Given the description of an element on the screen output the (x, y) to click on. 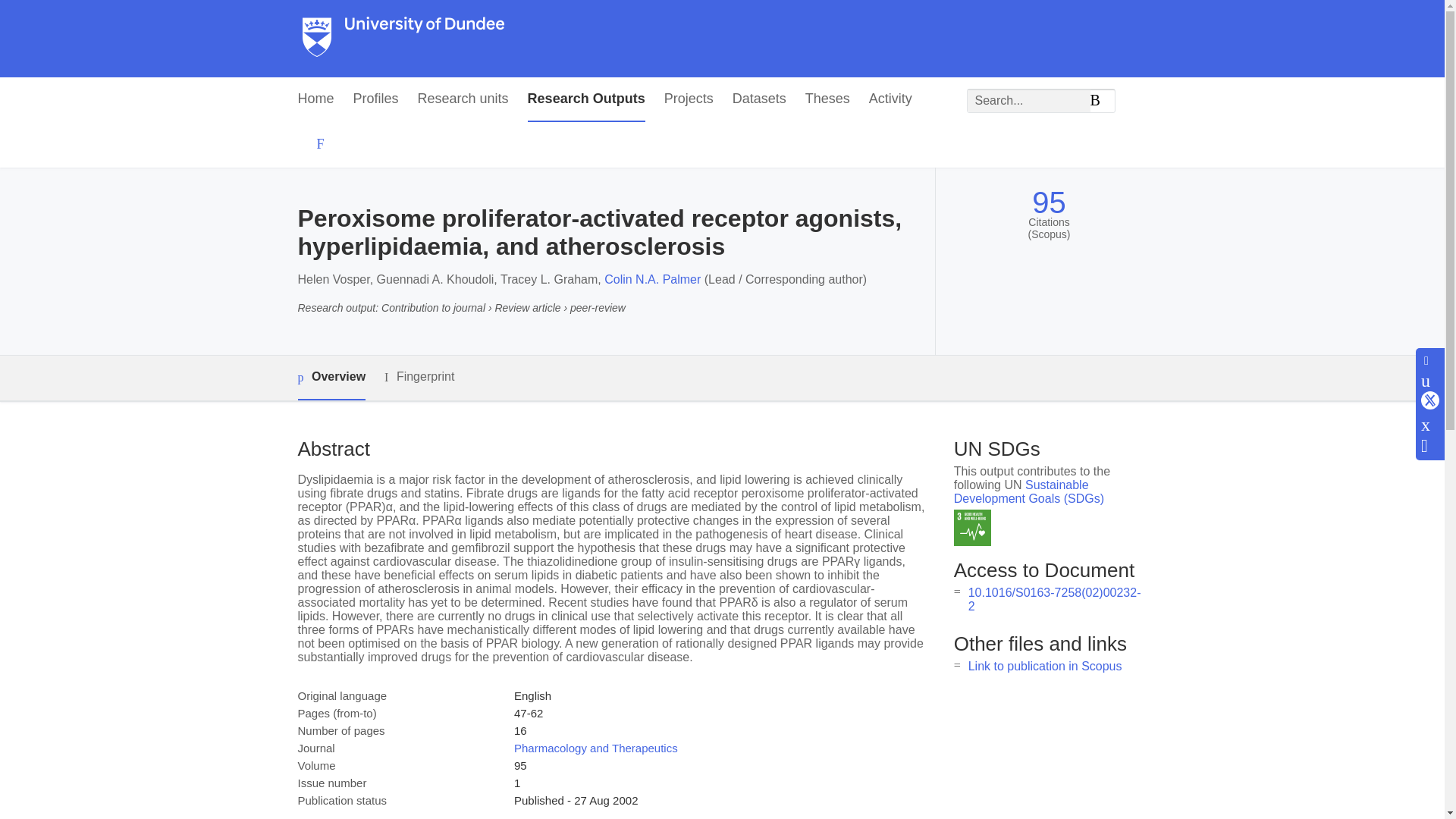
Theses (827, 99)
95 (1048, 202)
Research units (462, 99)
Colin N.A. Palmer (652, 278)
Fingerprint (419, 376)
Link to publication in Scopus (1045, 666)
Research Outputs (586, 99)
Datasets (759, 99)
Overview (331, 377)
Discovery - the University of Dundee Research Portal Home (404, 38)
